Given the description of an element on the screen output the (x, y) to click on. 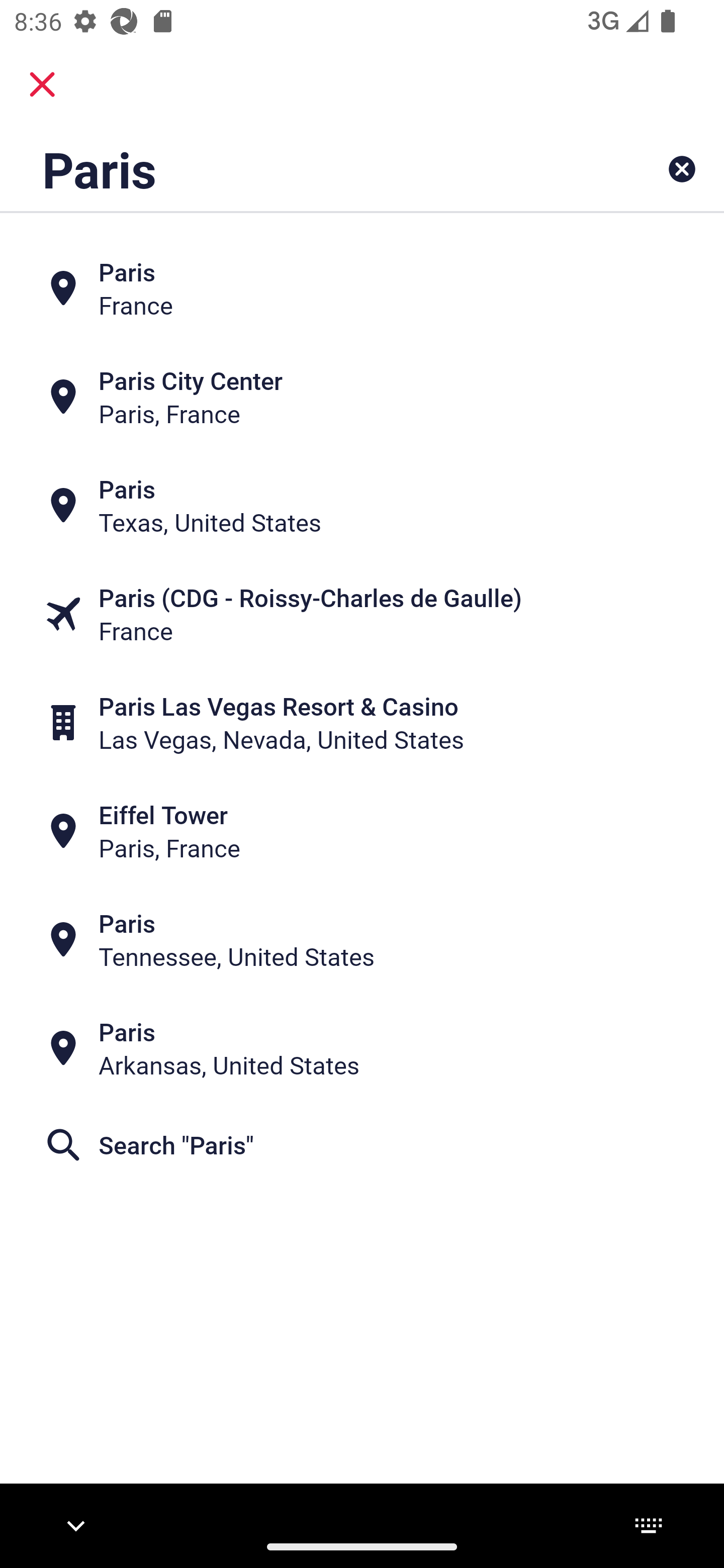
close. (42, 84)
Clear (681, 169)
Paris (298, 169)
Paris France (362, 288)
Paris City Center Paris, France (362, 397)
Paris Texas, United States (362, 505)
Paris (CDG - Roissy-Charles de Gaulle) France (362, 613)
Eiffel Tower Paris, France (362, 831)
Paris Tennessee, United States (362, 939)
Paris Arkansas, United States (362, 1048)
Search "Paris" (361, 1144)
